Given the description of an element on the screen output the (x, y) to click on. 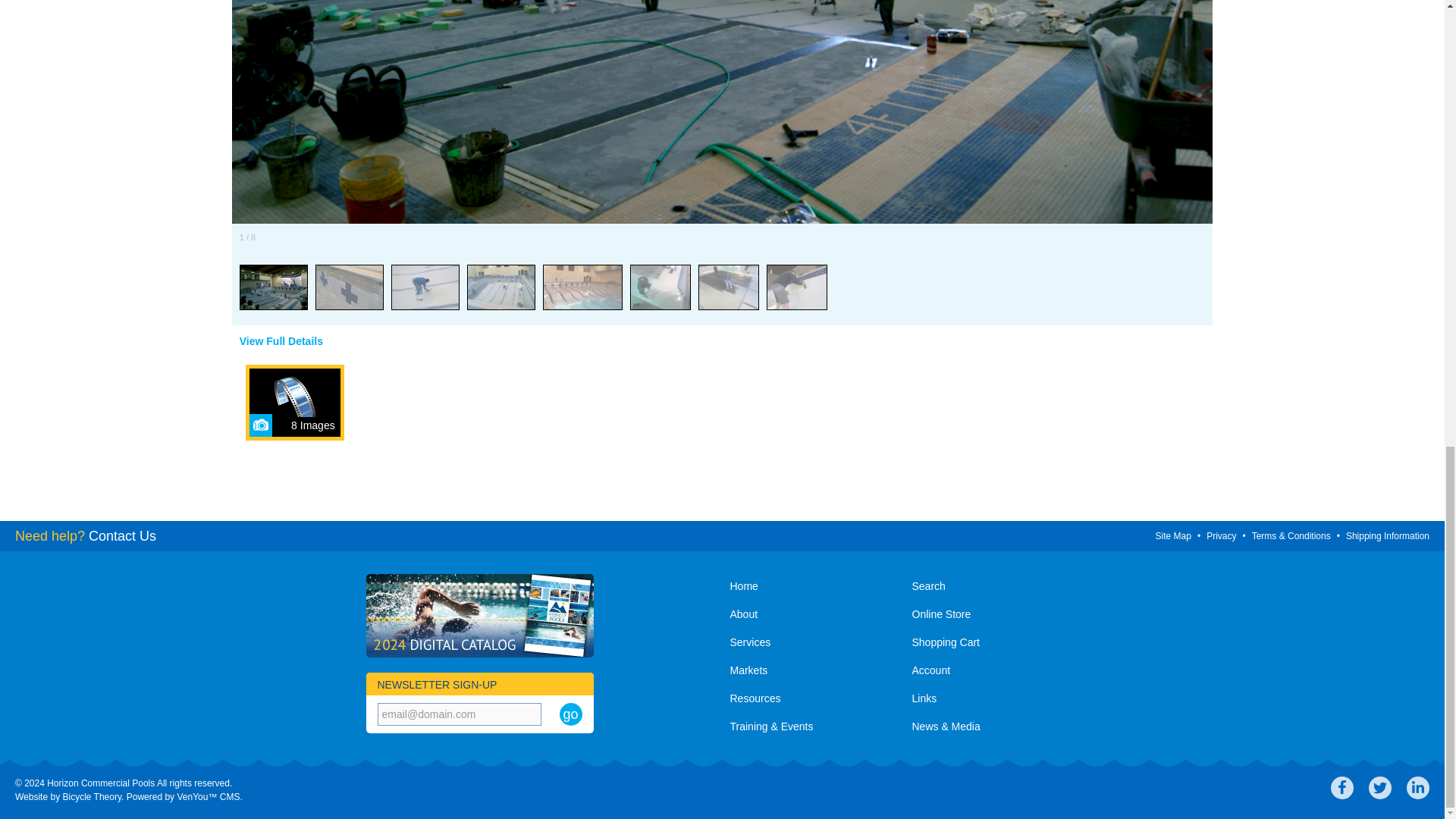
View Site Map Page (1173, 534)
Shopping Cart (994, 643)
View Privacy Page (1221, 534)
Home (812, 587)
Search (994, 587)
Links (994, 700)
Account (994, 672)
Online Store (994, 615)
Digital Catalog (478, 615)
View Shipping Information Page (1387, 534)
go (570, 713)
